Given the description of an element on the screen output the (x, y) to click on. 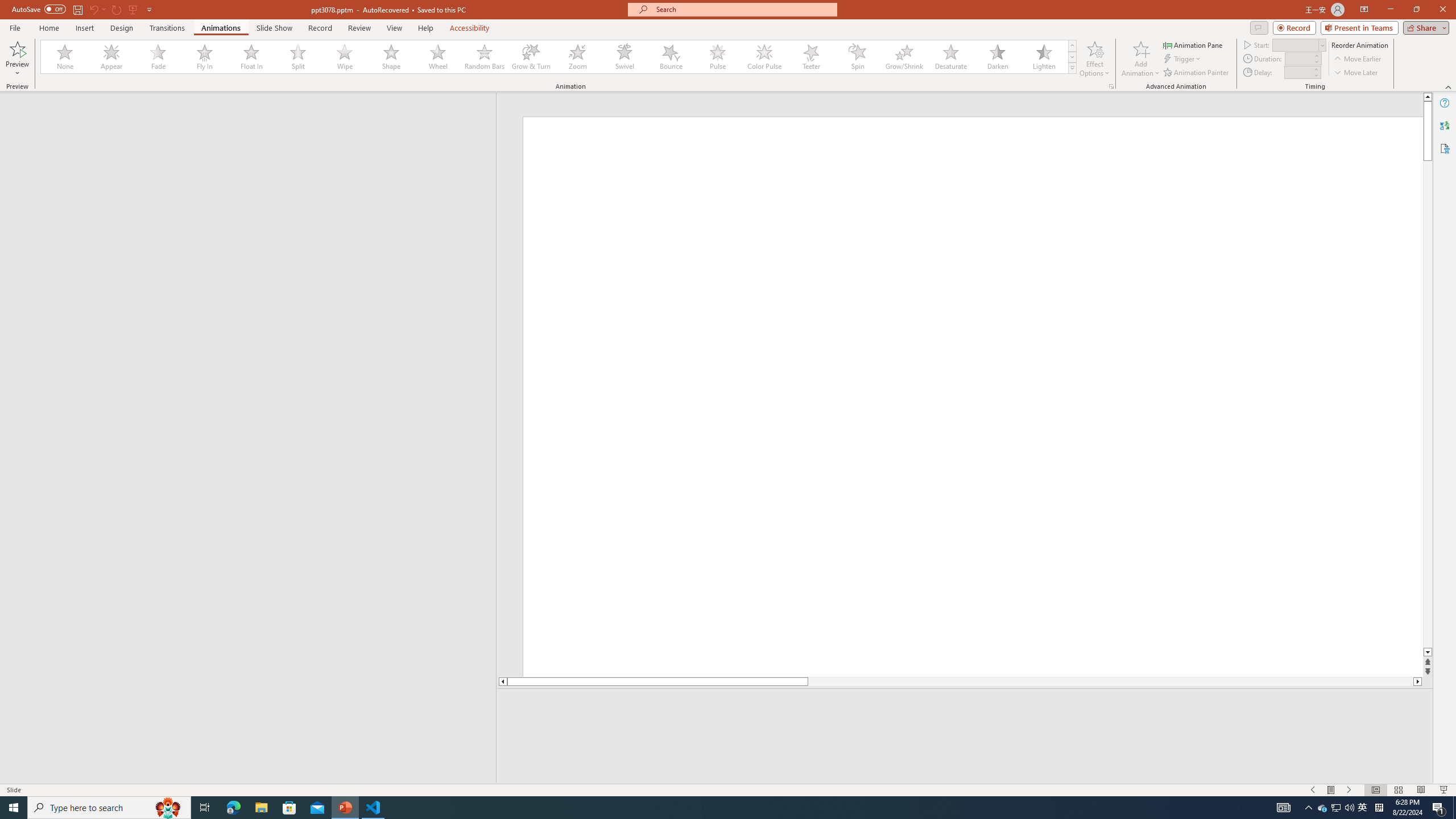
Less (1315, 75)
Spin (857, 56)
Save (77, 9)
Grow & Turn (531, 56)
Slide Show Next On (1349, 790)
Reading View (1420, 790)
Random Bars (484, 56)
Animation Styles (1071, 67)
Row up (1071, 45)
File Tab (15, 27)
Open (1321, 44)
Help (1444, 102)
Accessibility (1444, 147)
Lighten (1043, 56)
Effect Options (1094, 58)
